Given the description of an element on the screen output the (x, y) to click on. 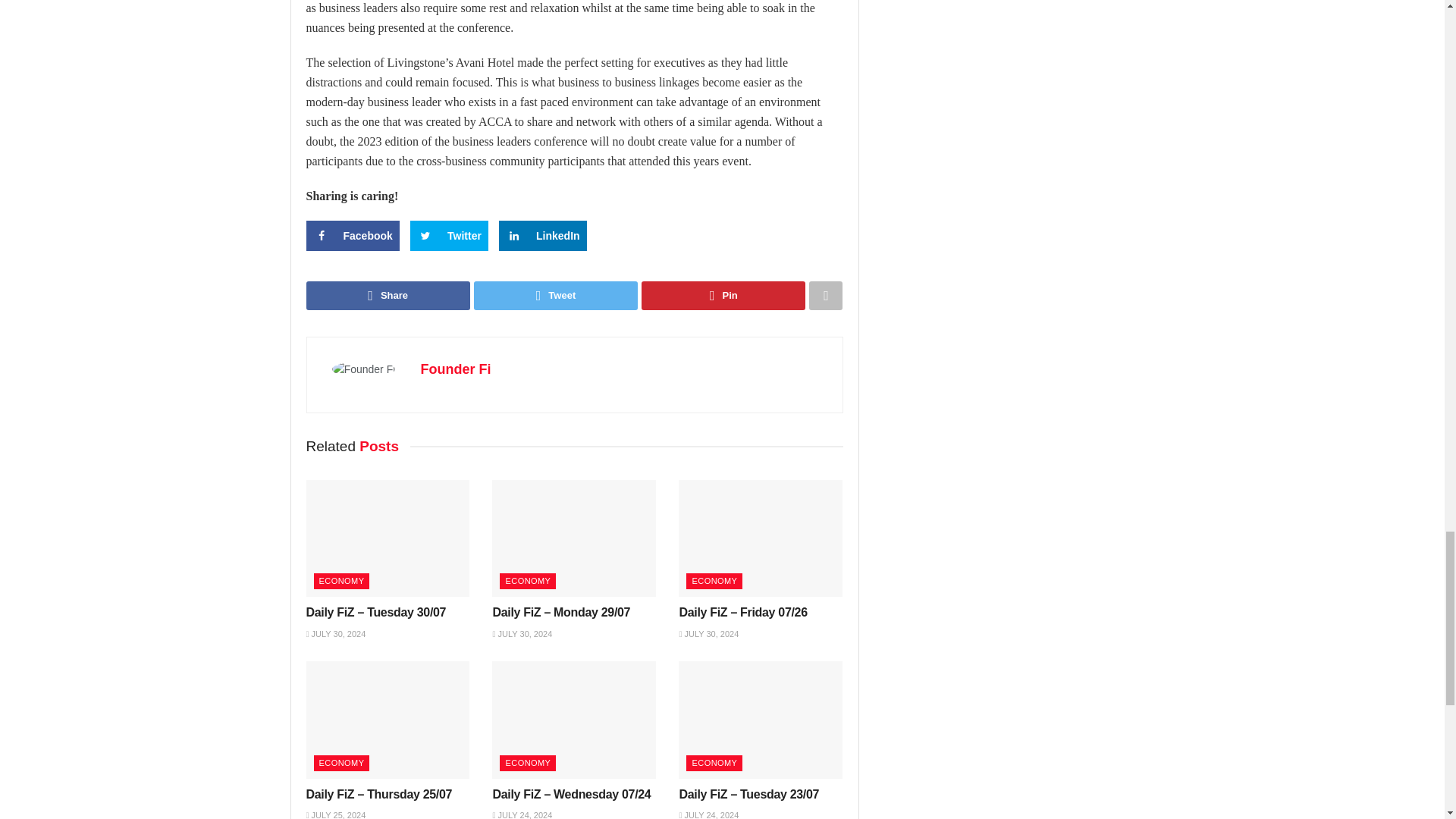
Share on LinkedIn (542, 235)
Share on Facebook (351, 235)
Share on Twitter (448, 235)
